Given the description of an element on the screen output the (x, y) to click on. 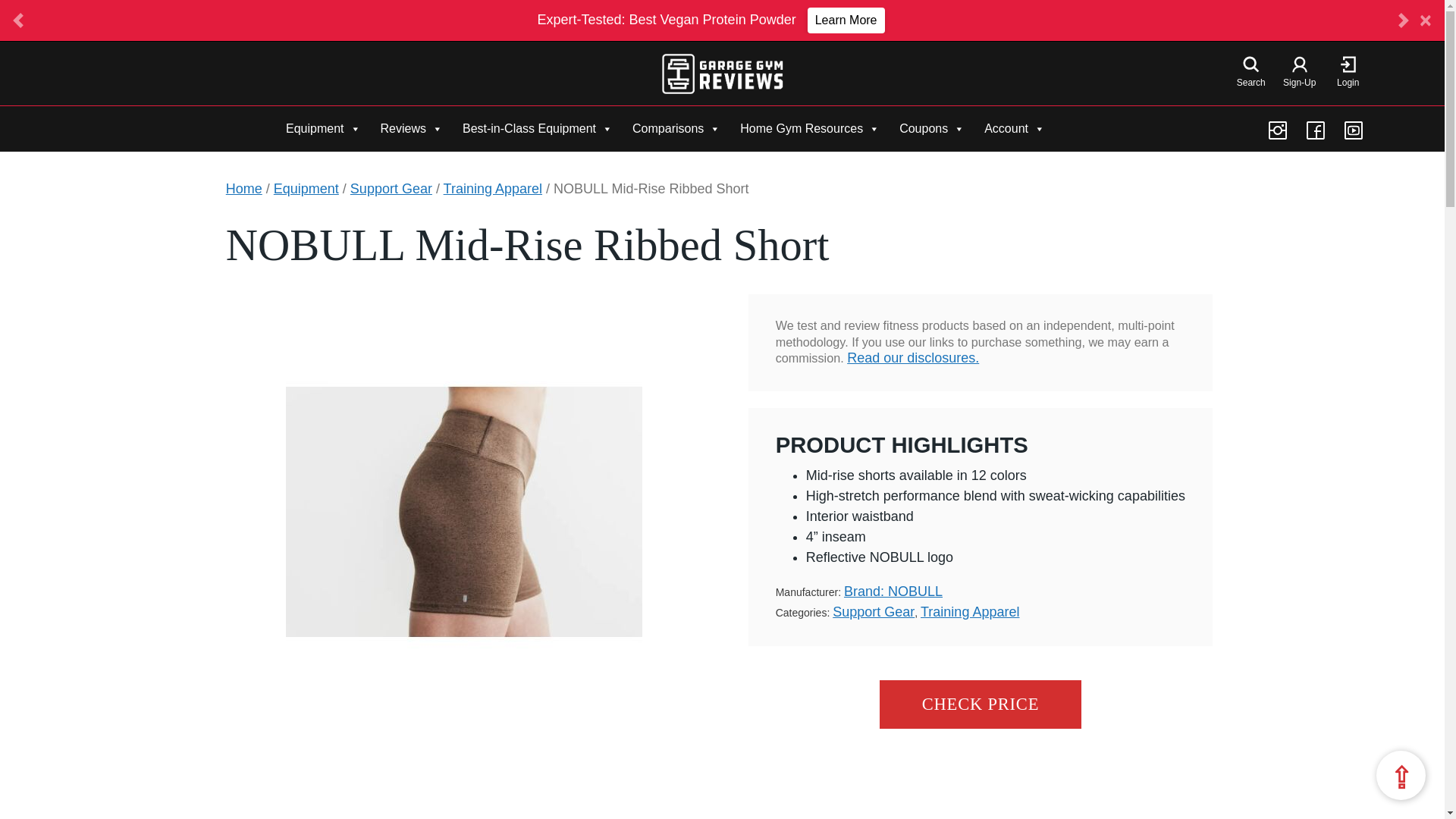
Sign-Up (1299, 73)
Expert-Tested: Best Vegan Protein Powder Learn More (710, 20)
Learn More (846, 20)
Back to Top (1400, 775)
Login (1348, 73)
Equipment (323, 128)
Search (1251, 73)
